Given the description of an element on the screen output the (x, y) to click on. 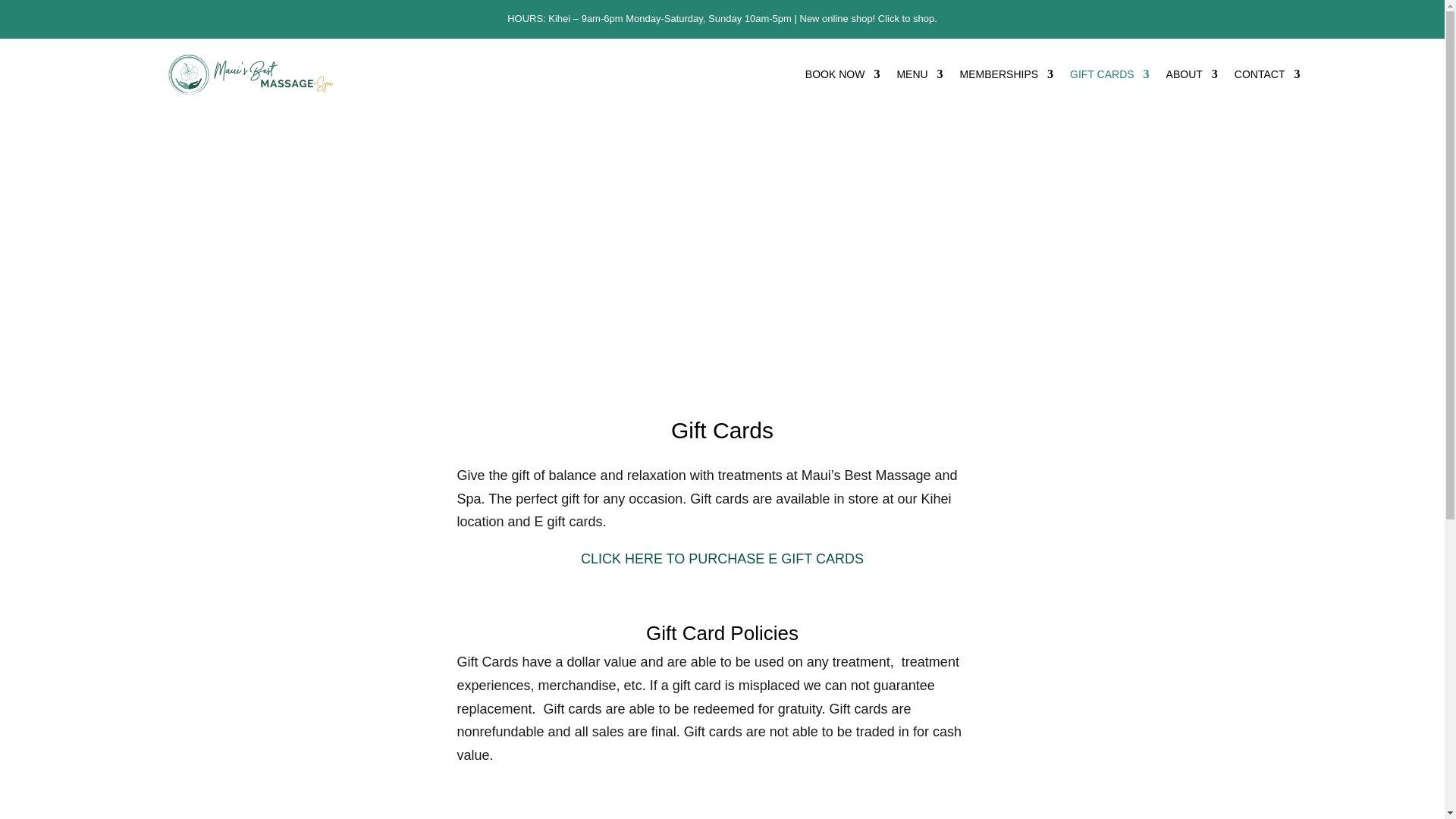
CONTACT (1267, 76)
MENU (919, 76)
MEMBERSHIPS (1005, 76)
GIFT CARDS (1110, 76)
ABOUT (1191, 76)
mauis-best-massage-and-spa-2019-small (250, 74)
BOOK NOW (842, 76)
